Given the description of an element on the screen output the (x, y) to click on. 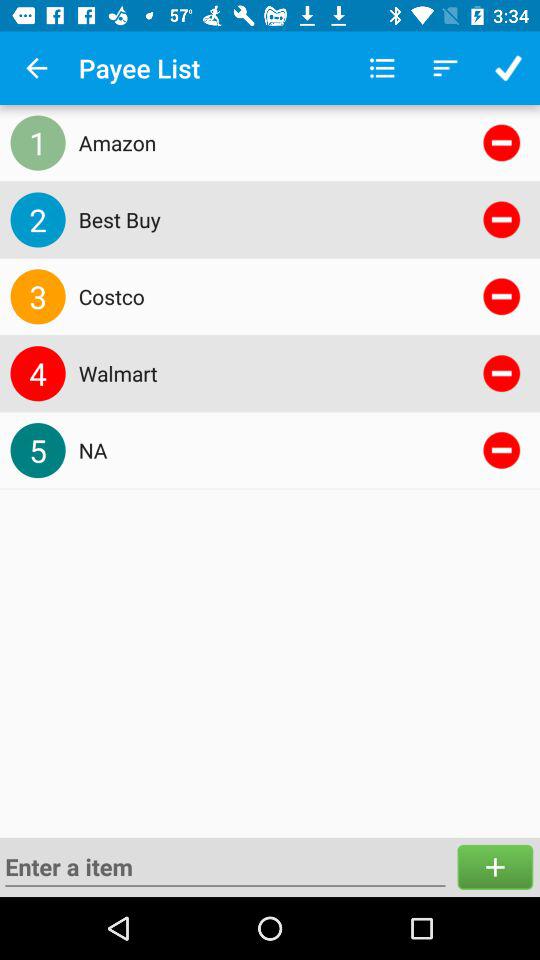
search for something (225, 867)
